Given the description of an element on the screen output the (x, y) to click on. 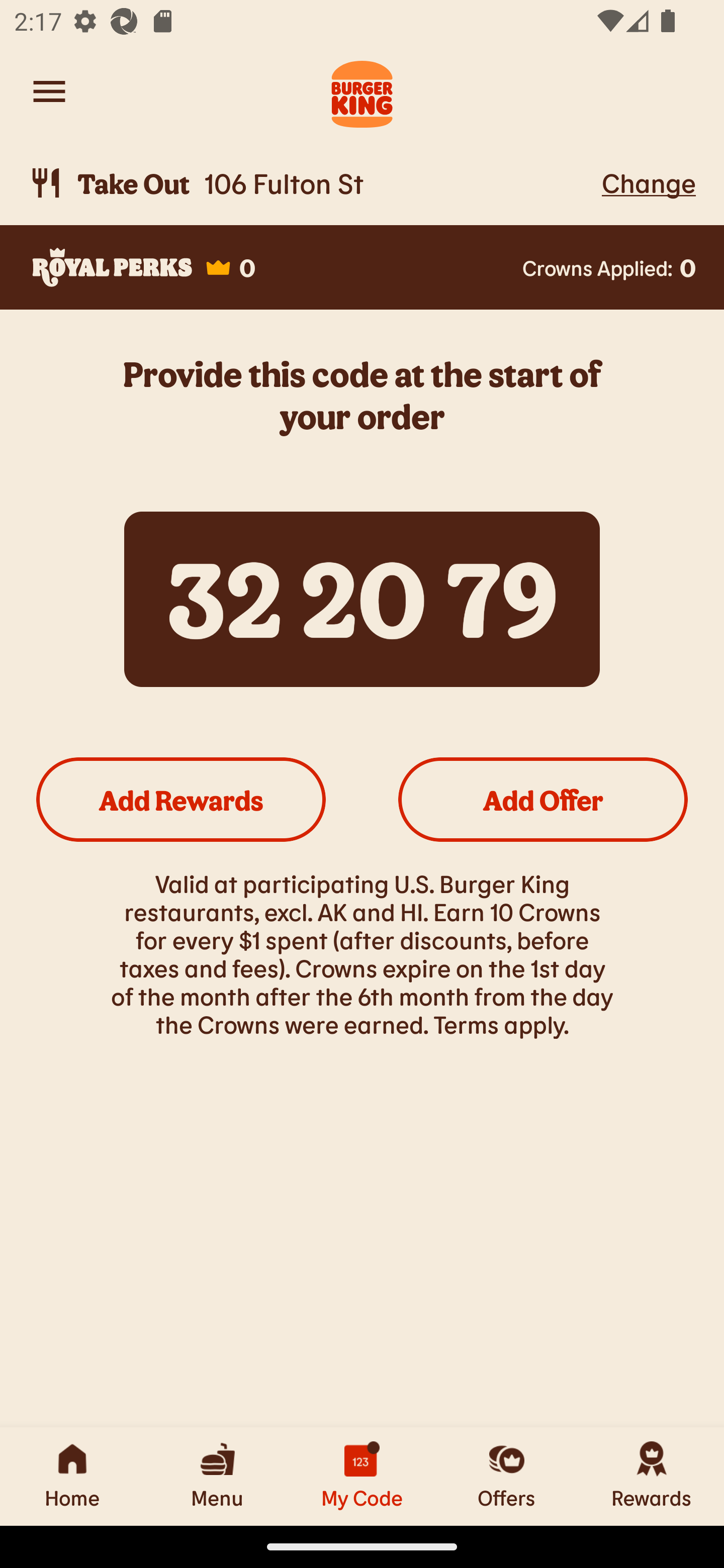
Burger King Logo. Navigate to Home (362, 91)
Navigate to account menu  (49, 91)
Take Out, 106 Fulton St  Take Out 106 Fulton St (311, 183)
Change (648, 182)
Add Rewards (180, 799)
Add Offer (542, 799)
Home (72, 1475)
Menu (216, 1475)
My Code (361, 1475)
Offers (506, 1475)
Rewards (651, 1475)
